Given the description of an element on the screen output the (x, y) to click on. 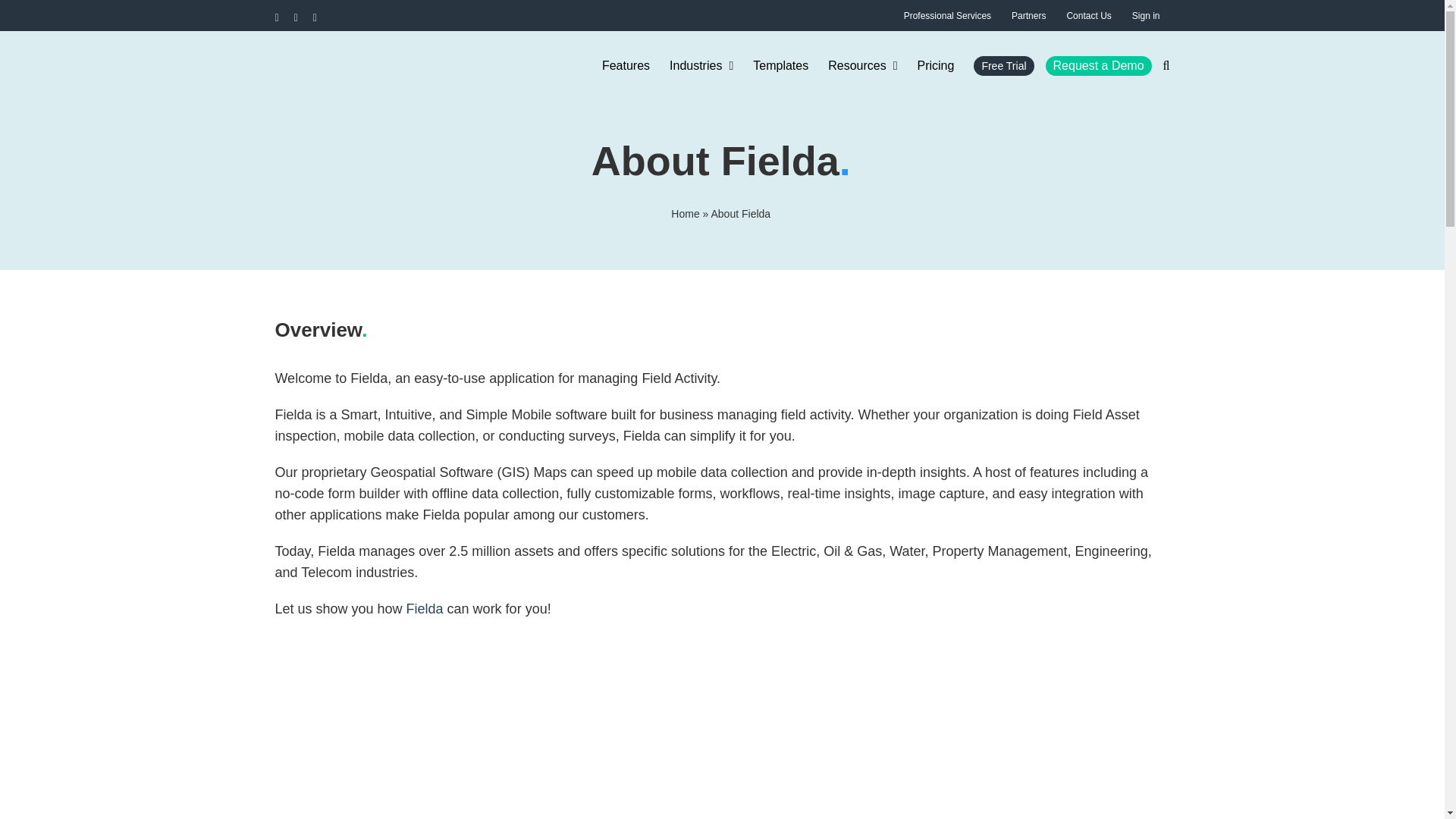
Pricing (936, 66)
Industries (701, 66)
Contact Us (1089, 15)
Features (625, 66)
Sign in (1146, 15)
Partners (1028, 15)
Professional Services (947, 15)
Resources (862, 66)
Templates (780, 66)
banner-image (456, 761)
